Given the description of an element on the screen output the (x, y) to click on. 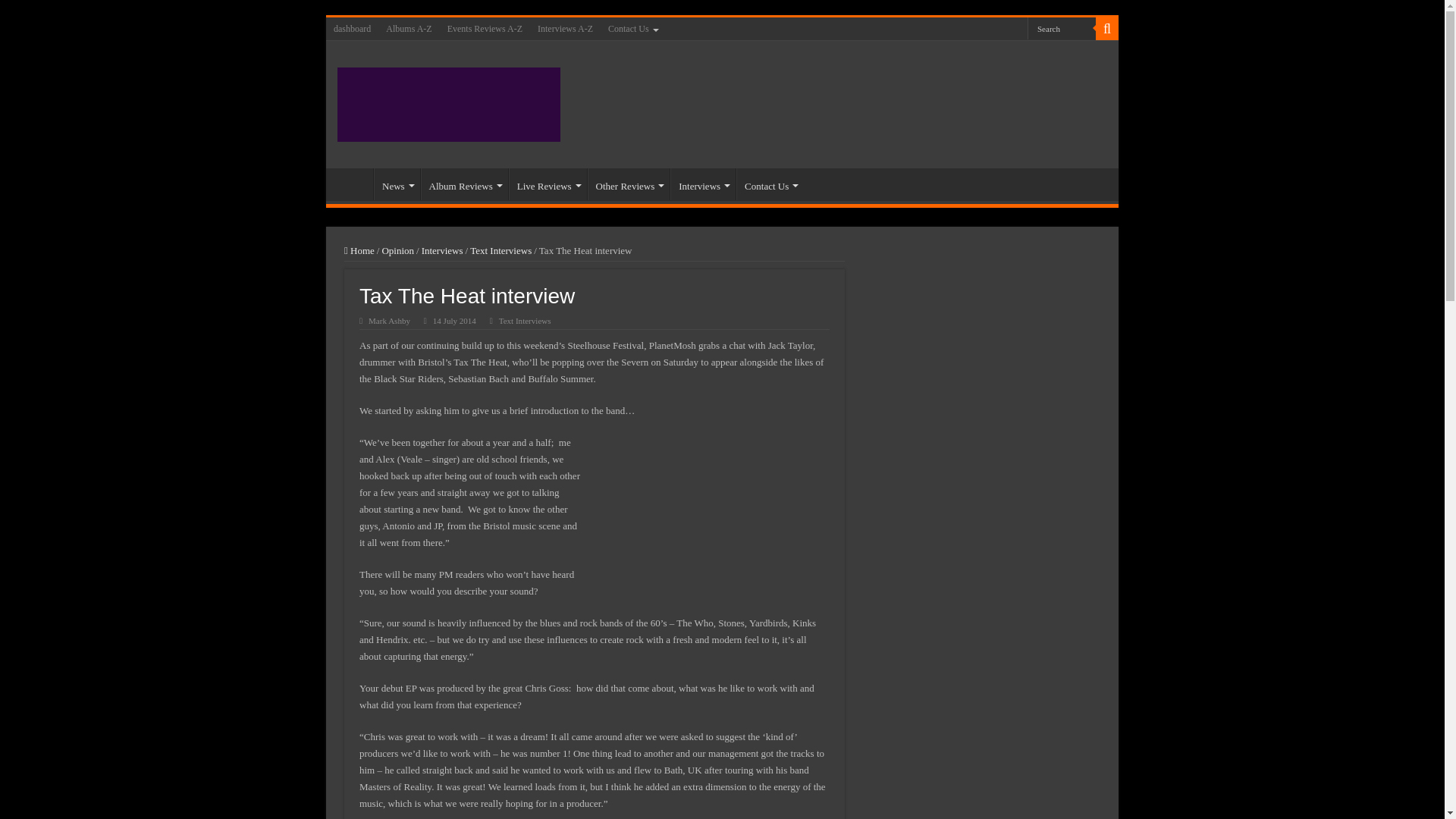
Home (352, 183)
Interviews (702, 183)
Other Reviews (628, 183)
Contact Us (631, 28)
Album Reviews (464, 183)
Events Reviews A-Z (484, 28)
Search (1061, 28)
Search (1061, 28)
Search (1061, 28)
dashboard (352, 28)
